Given the description of an element on the screen output the (x, y) to click on. 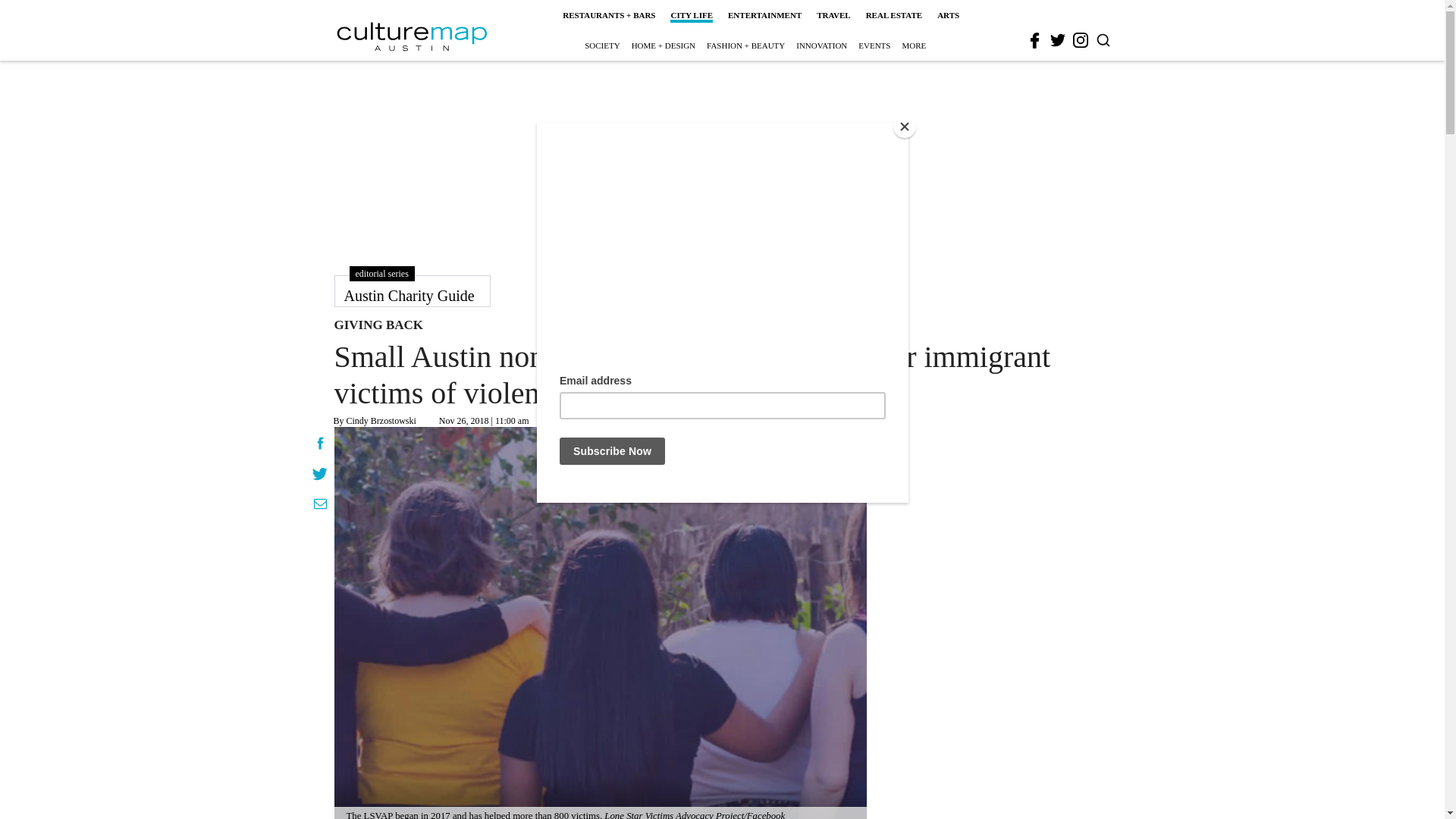
3rd party ad content (721, 160)
